Given the description of an element on the screen output the (x, y) to click on. 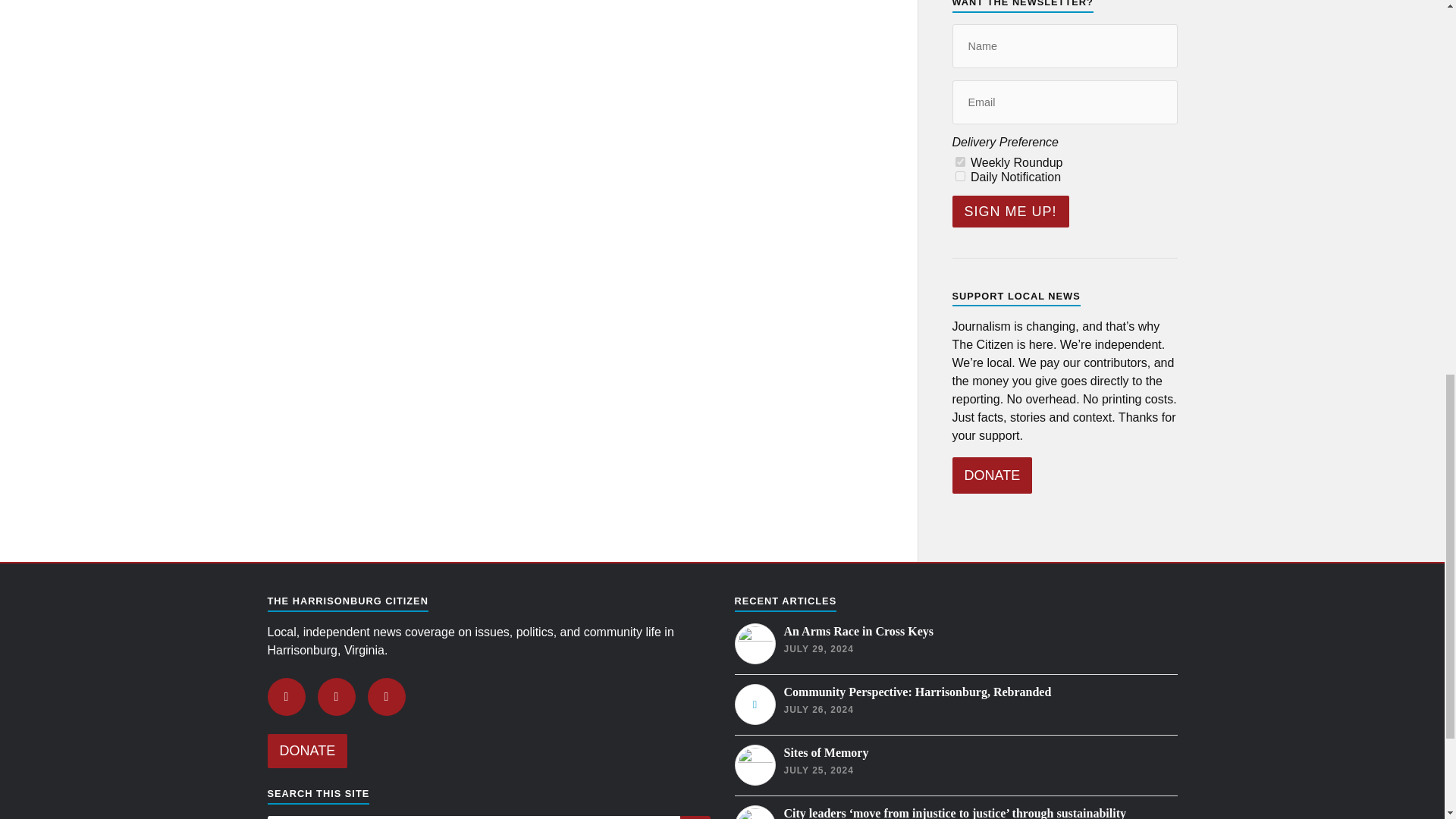
DONATE (992, 475)
Sign me up! (1010, 211)
3fe0729a7e (960, 175)
86d305d8aa (960, 162)
Sign me up! (1010, 211)
